Given the description of an element on the screen output the (x, y) to click on. 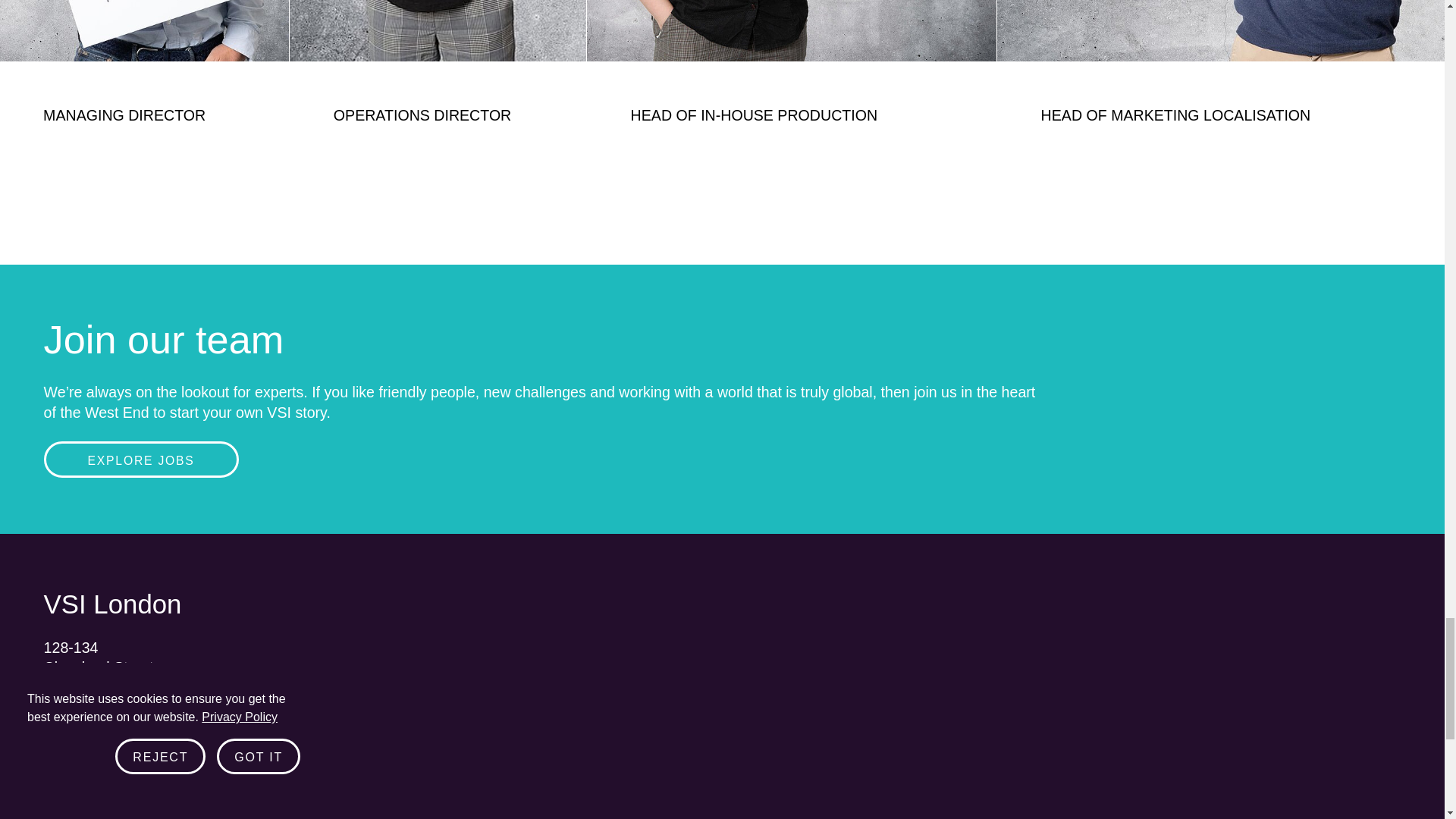
EXPLORE JOBS (140, 459)
